Given the description of an element on the screen output the (x, y) to click on. 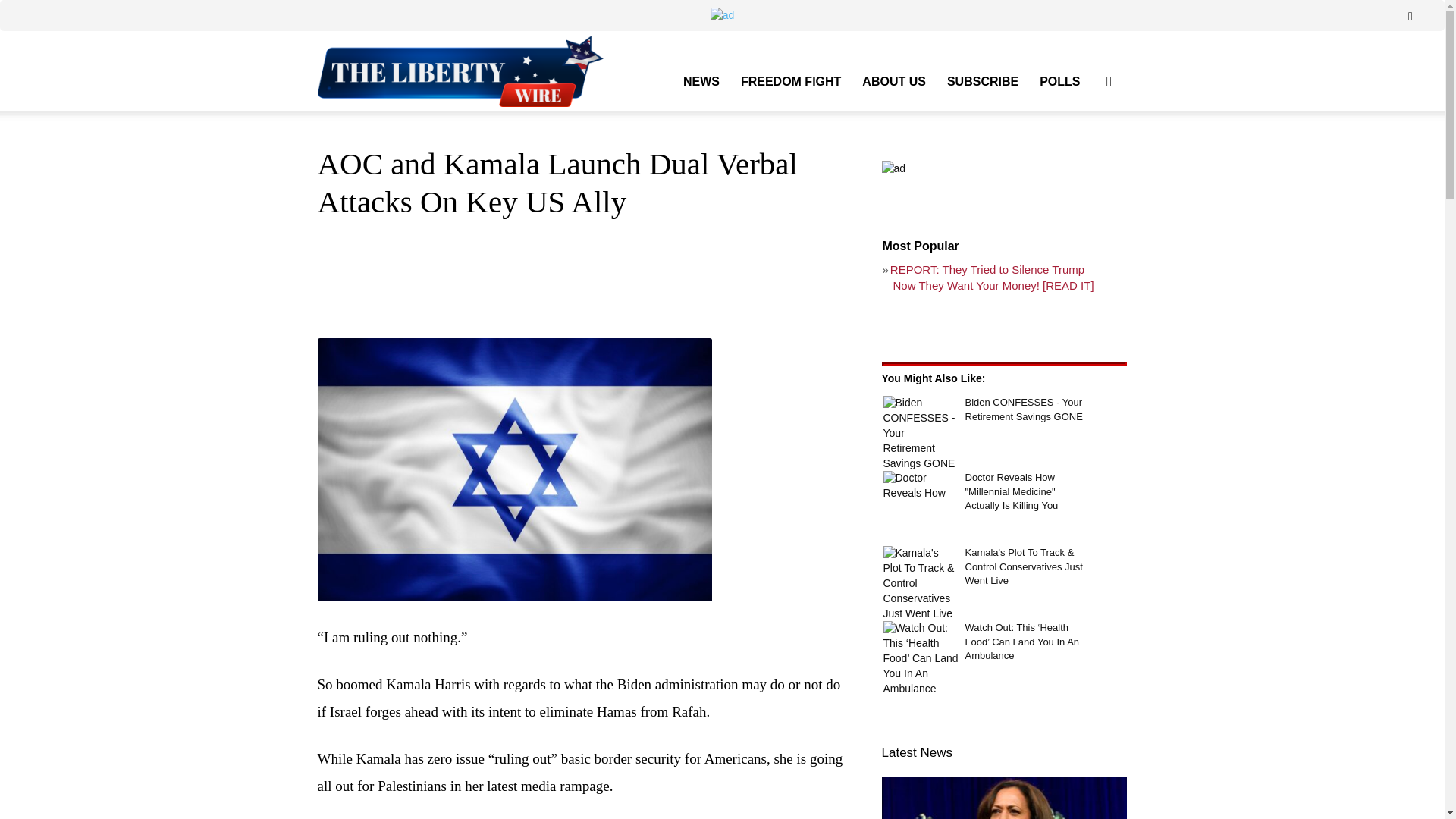
The Liberty Wire (474, 70)
Biden CONFESSES - Your Retirement Savings GONE (920, 433)
NEWS (701, 81)
POLLS (1059, 81)
Search (1085, 153)
FREEDOM FIGHT (790, 81)
SUBSCRIBE (982, 81)
ABOUT US (893, 81)
Doctor Reveals How  (920, 485)
